Given the description of an element on the screen output the (x, y) to click on. 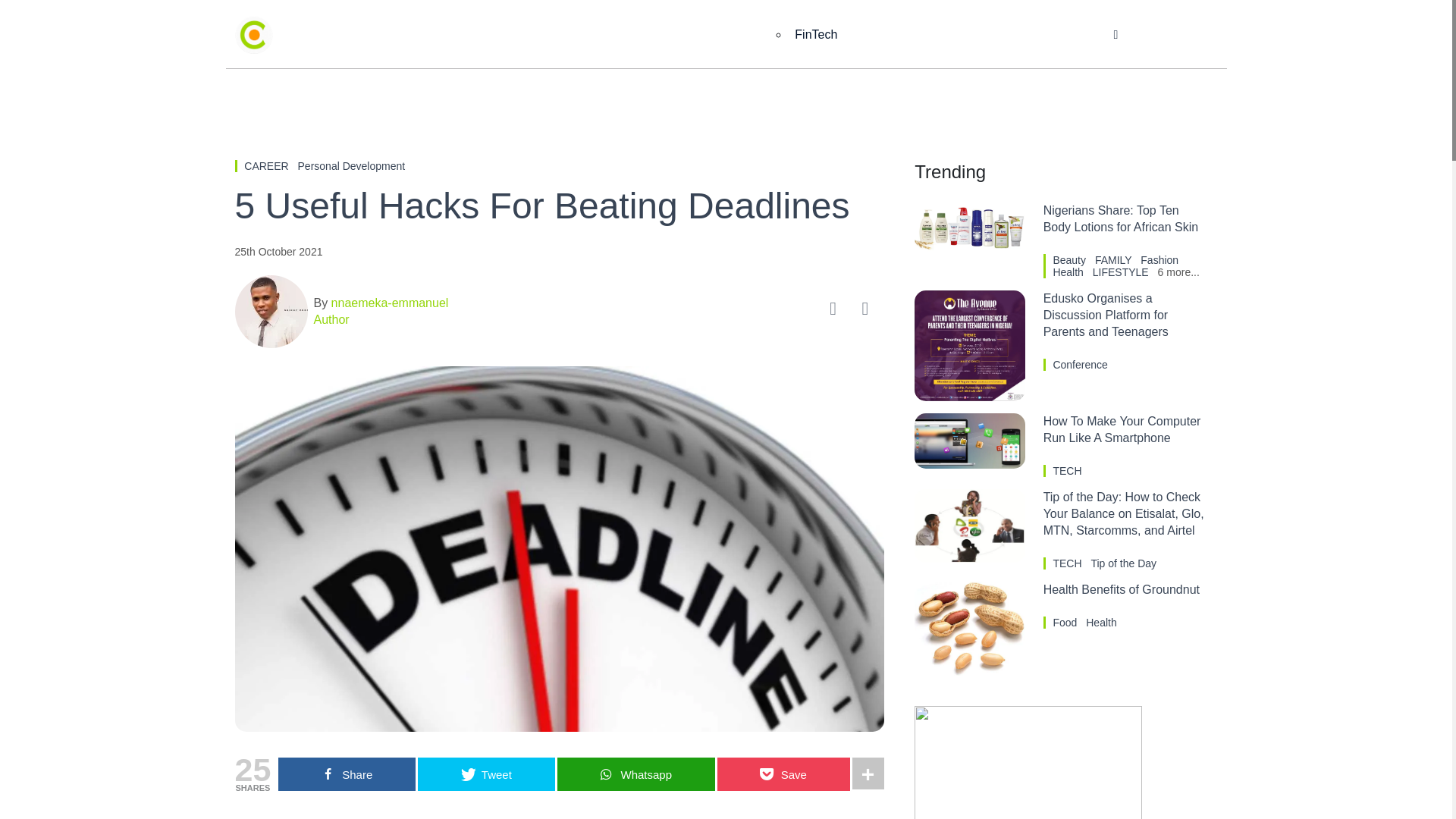
Lifestyle (943, 34)
Sports (866, 34)
Opportunities (1037, 34)
Entertainment (646, 34)
Tweet (485, 774)
Business (547, 34)
5 Useful Hacks For Beating Deadlines (558, 206)
Lifestyle (943, 34)
FinTech (816, 34)
CAREER (267, 165)
